Given the description of an element on the screen output the (x, y) to click on. 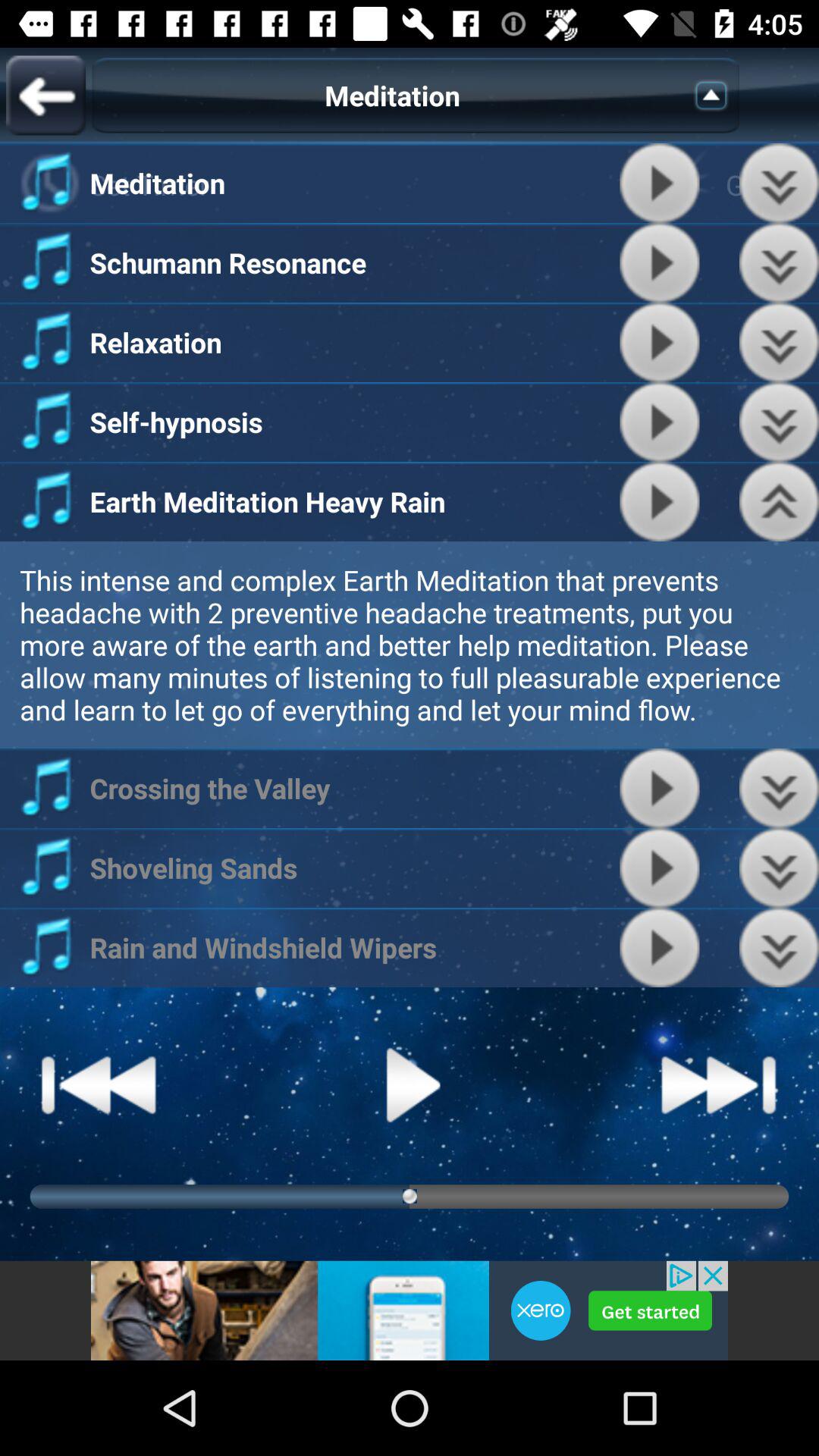
setting bar (779, 262)
